Given the description of an element on the screen output the (x, y) to click on. 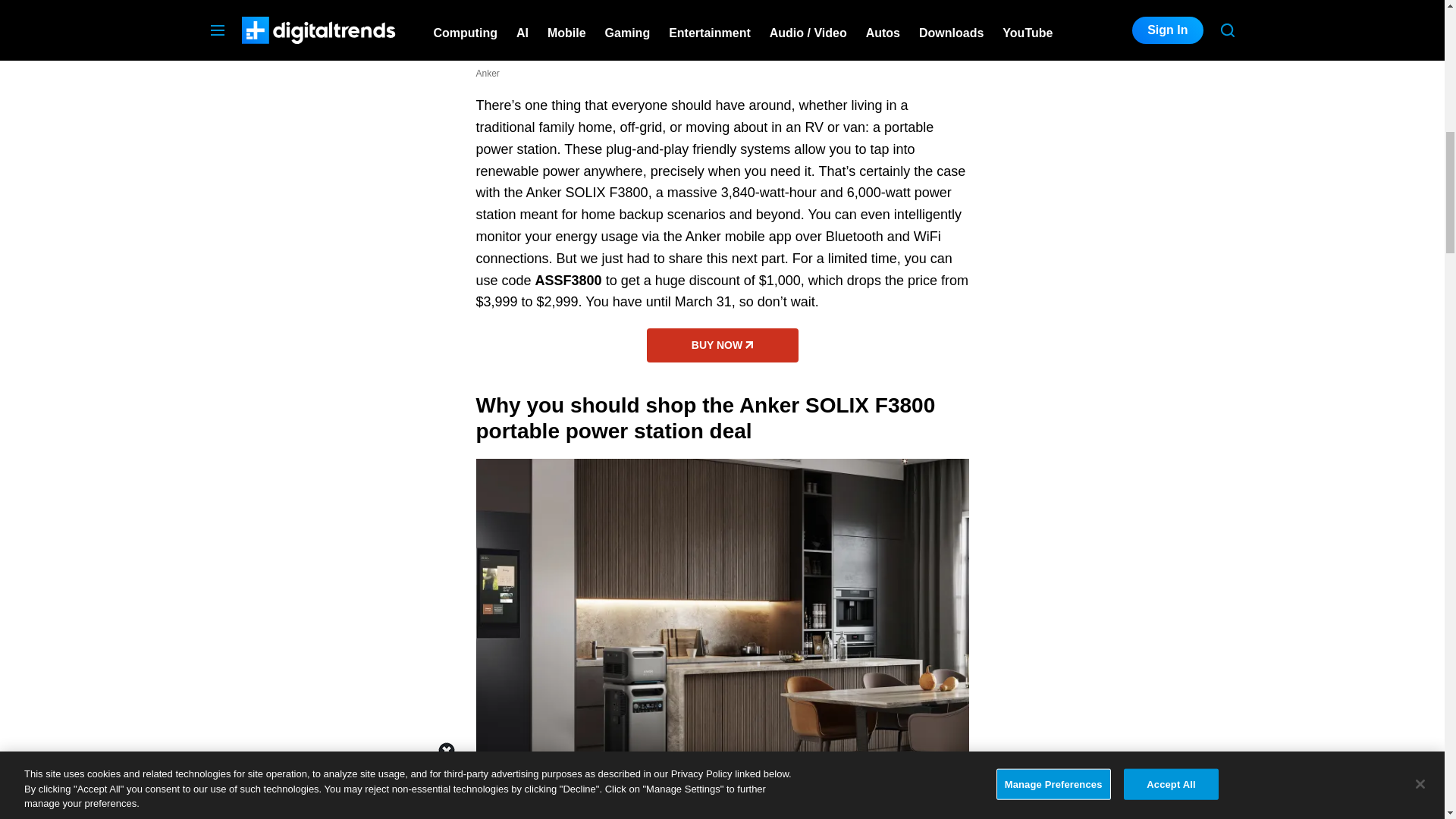
3rd party ad content (1120, 72)
